Given the description of an element on the screen output the (x, y) to click on. 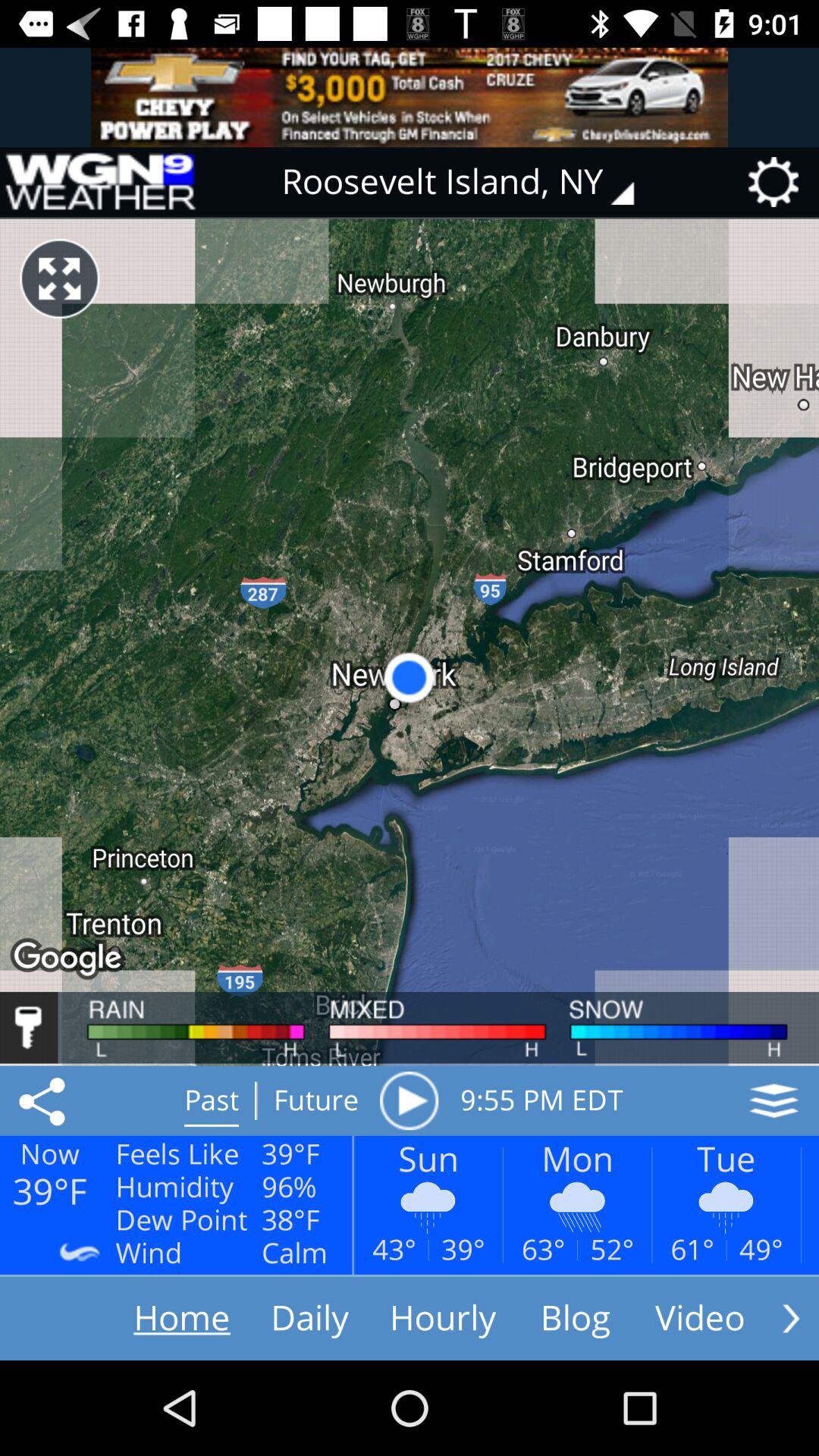
radar layers (774, 1100)
